Given the description of an element on the screen output the (x, y) to click on. 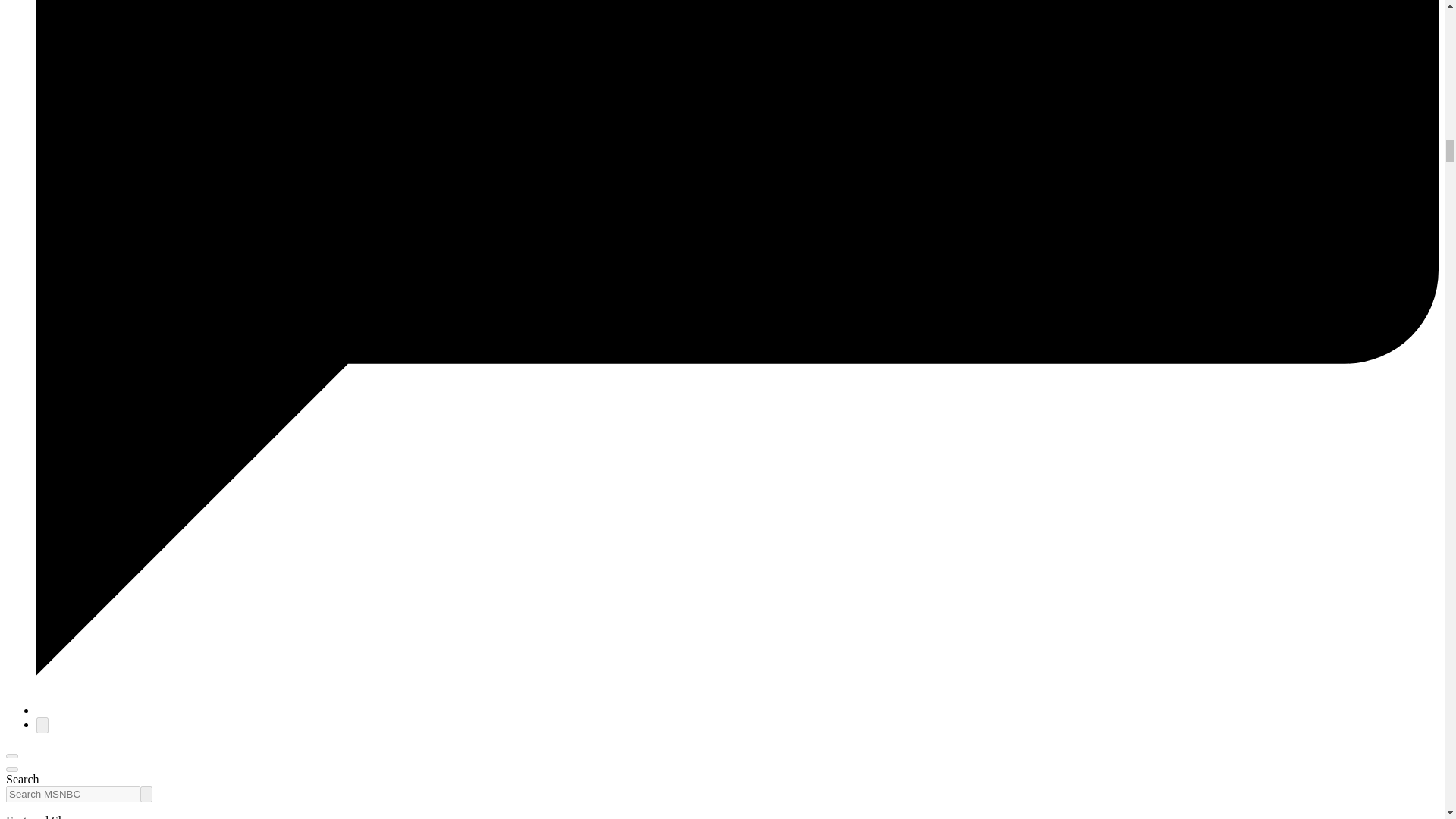
Search (145, 794)
